Given the description of an element on the screen output the (x, y) to click on. 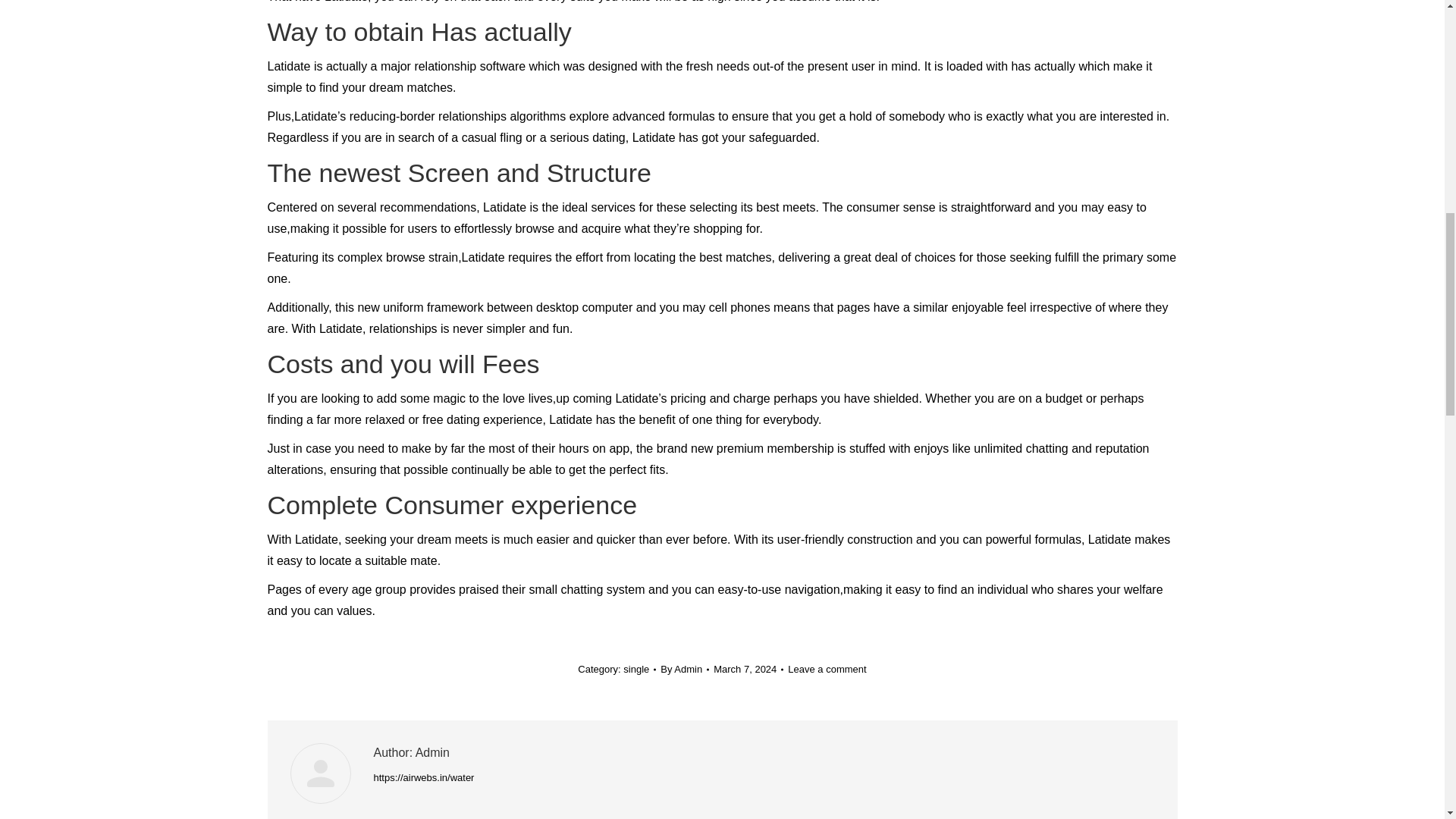
6:17 pm (748, 669)
View all posts by Admin (685, 669)
